Given the description of an element on the screen output the (x, y) to click on. 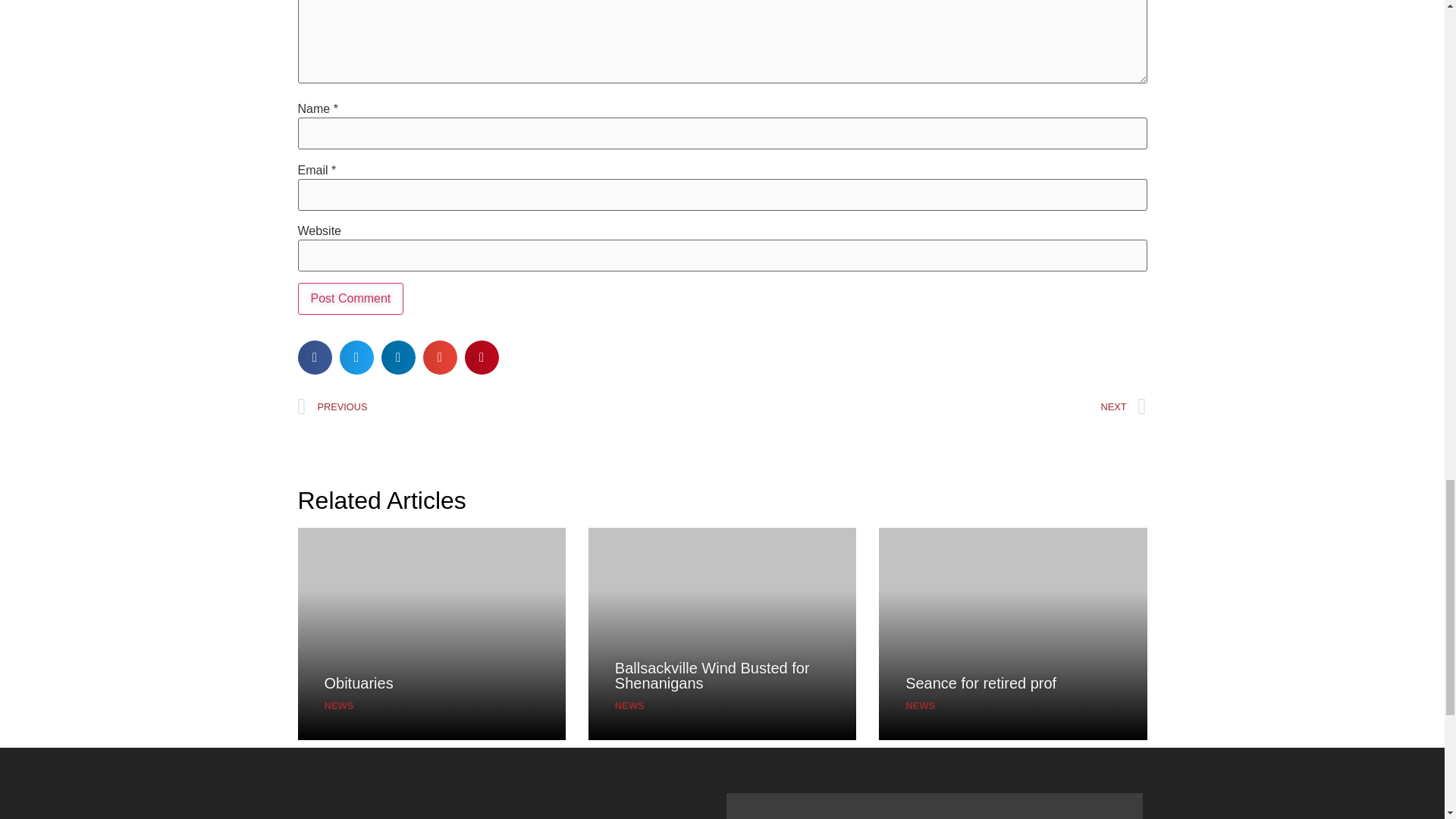
Seance for retired prof (981, 682)
Post Comment (350, 298)
PREVIOUS (509, 406)
Ballsackville Wind Busted for Shenanigans (711, 675)
Post Comment (350, 298)
NEXT (934, 406)
Obituaries (358, 682)
